Given the description of an element on the screen output the (x, y) to click on. 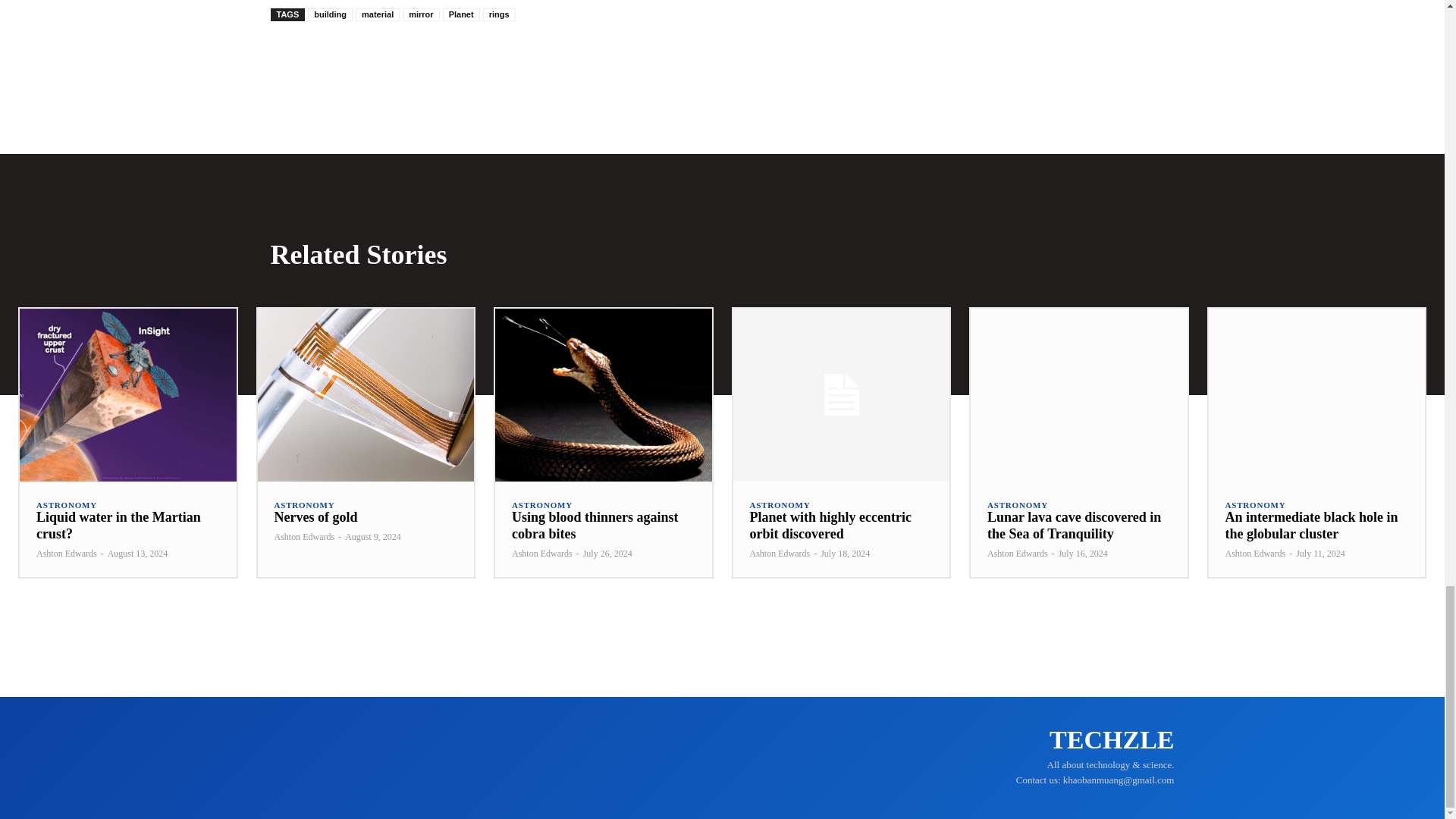
Liquid water in the Martian crust? (118, 525)
Nerves of gold (316, 516)
Using blood thinners against cobra bites (603, 394)
Planet with highly eccentric orbit discovered (840, 394)
Liquid water in the Martian crust? (127, 394)
Nerves of gold (365, 394)
Using blood thinners against cobra bites (595, 525)
